Given the description of an element on the screen output the (x, y) to click on. 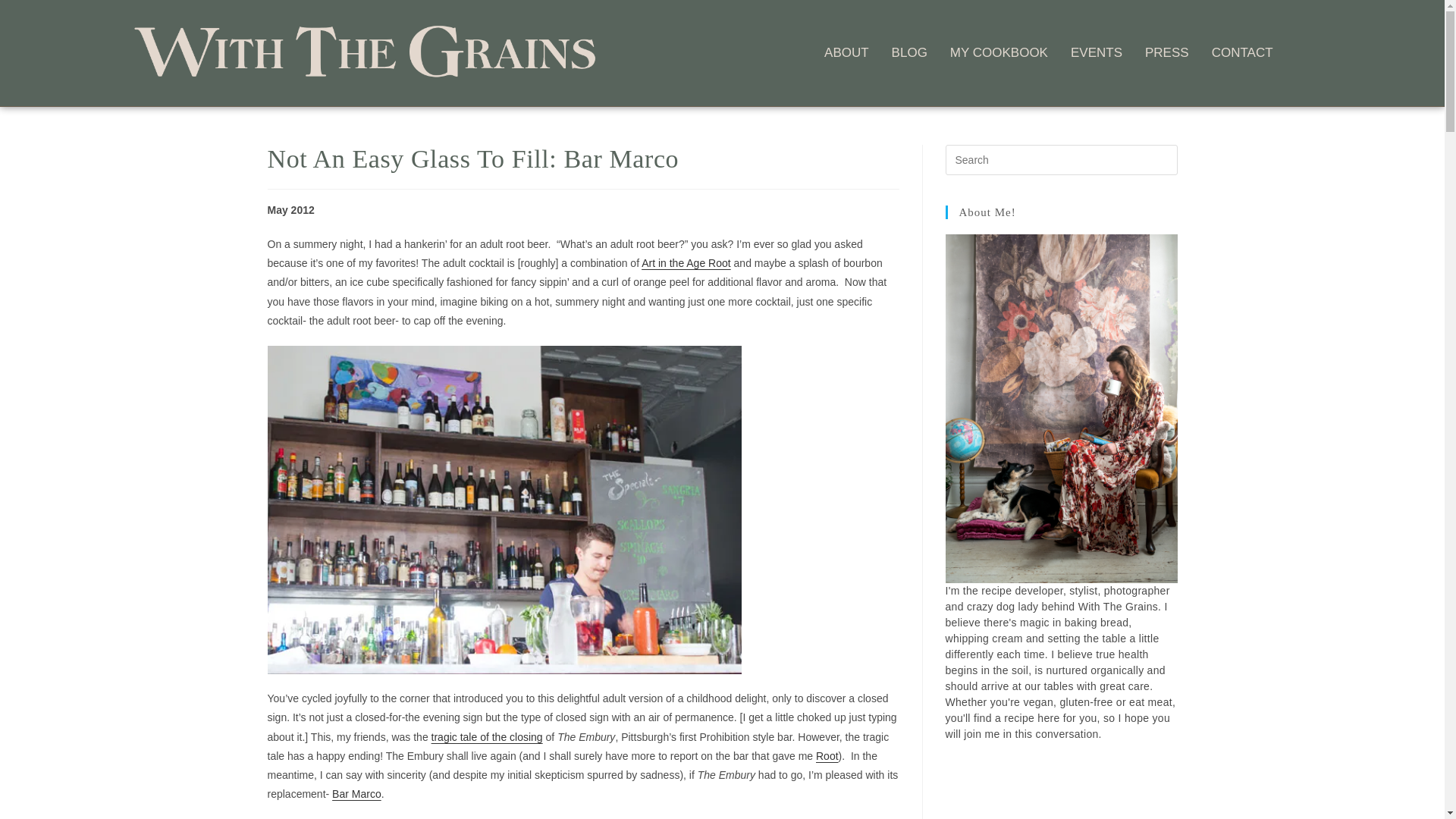
tragic tale of the closing (486, 736)
CONTACT (1241, 52)
ABOUT (846, 52)
Root (826, 756)
EVENTS (1096, 52)
PRESS (1166, 52)
Bar Marco (356, 793)
Art in the Age Root (686, 263)
BLOG (909, 52)
